Given the description of an element on the screen output the (x, y) to click on. 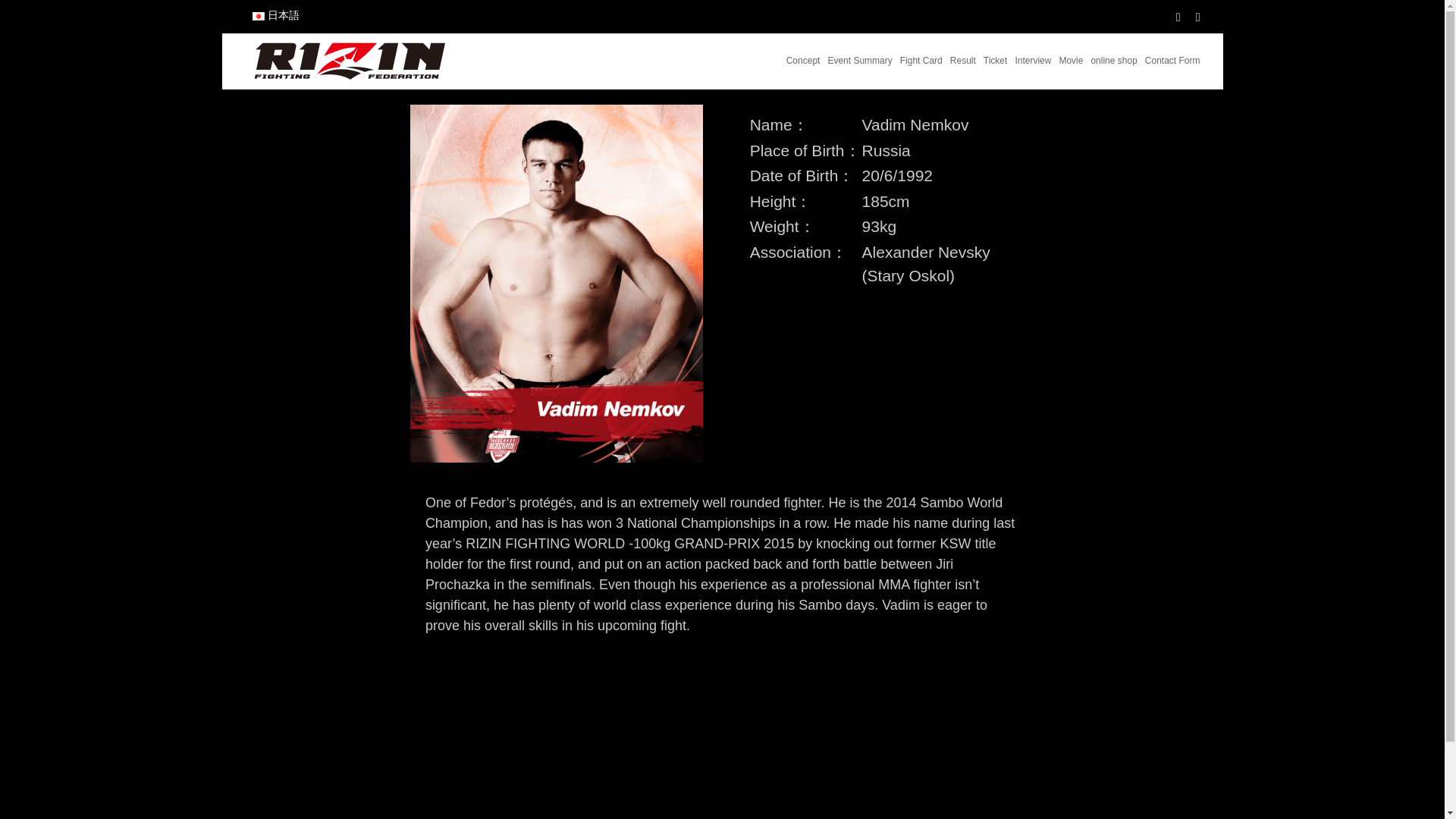
Contact Form (1171, 58)
Japanese (282, 10)
online shop (1113, 58)
Event Summary (859, 58)
